Given the description of an element on the screen output the (x, y) to click on. 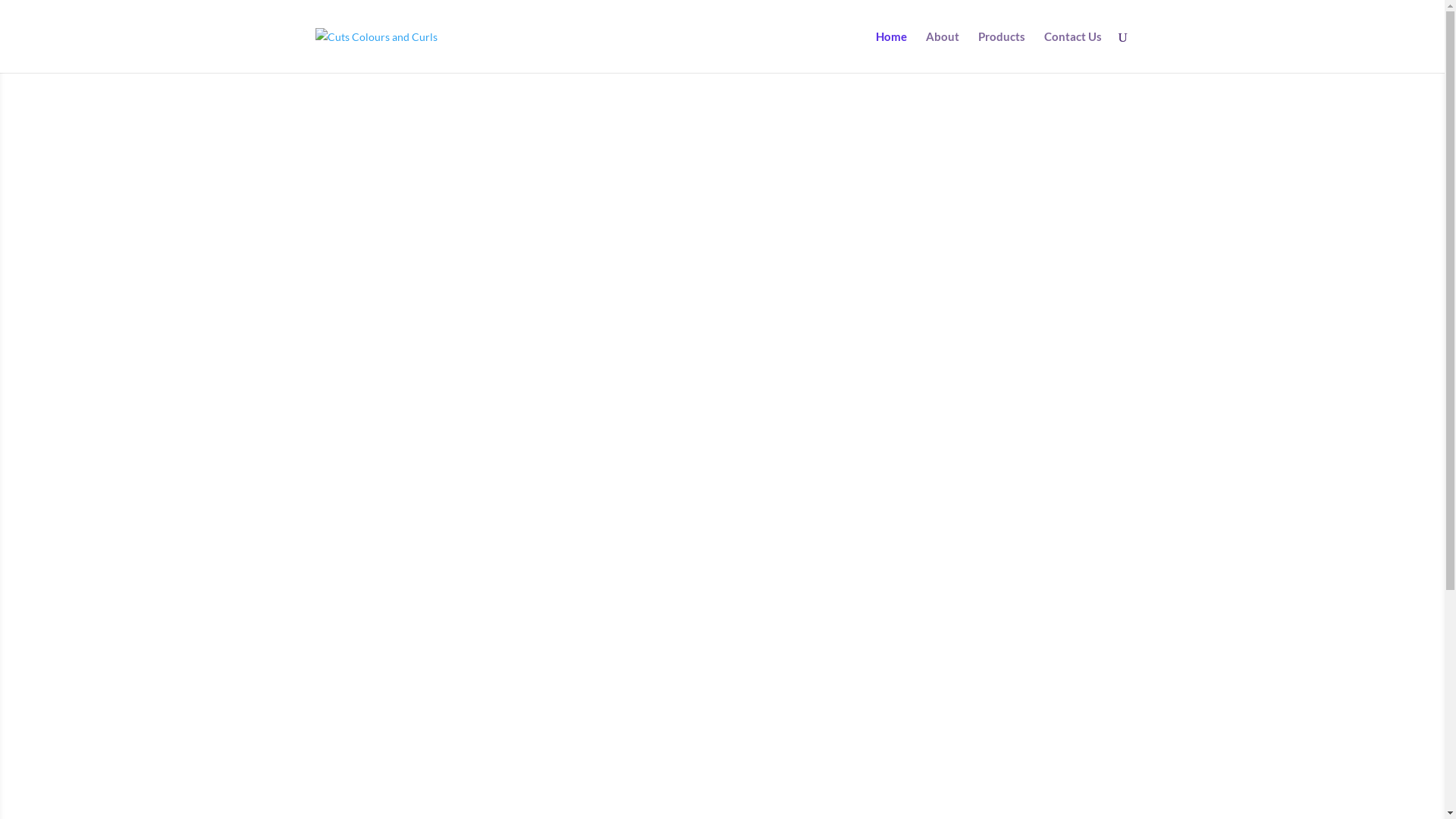
Contact Us Element type: text (1072, 51)
Products Element type: text (1001, 51)
Home Element type: text (890, 51)
About Element type: text (941, 51)
